Given the description of an element on the screen output the (x, y) to click on. 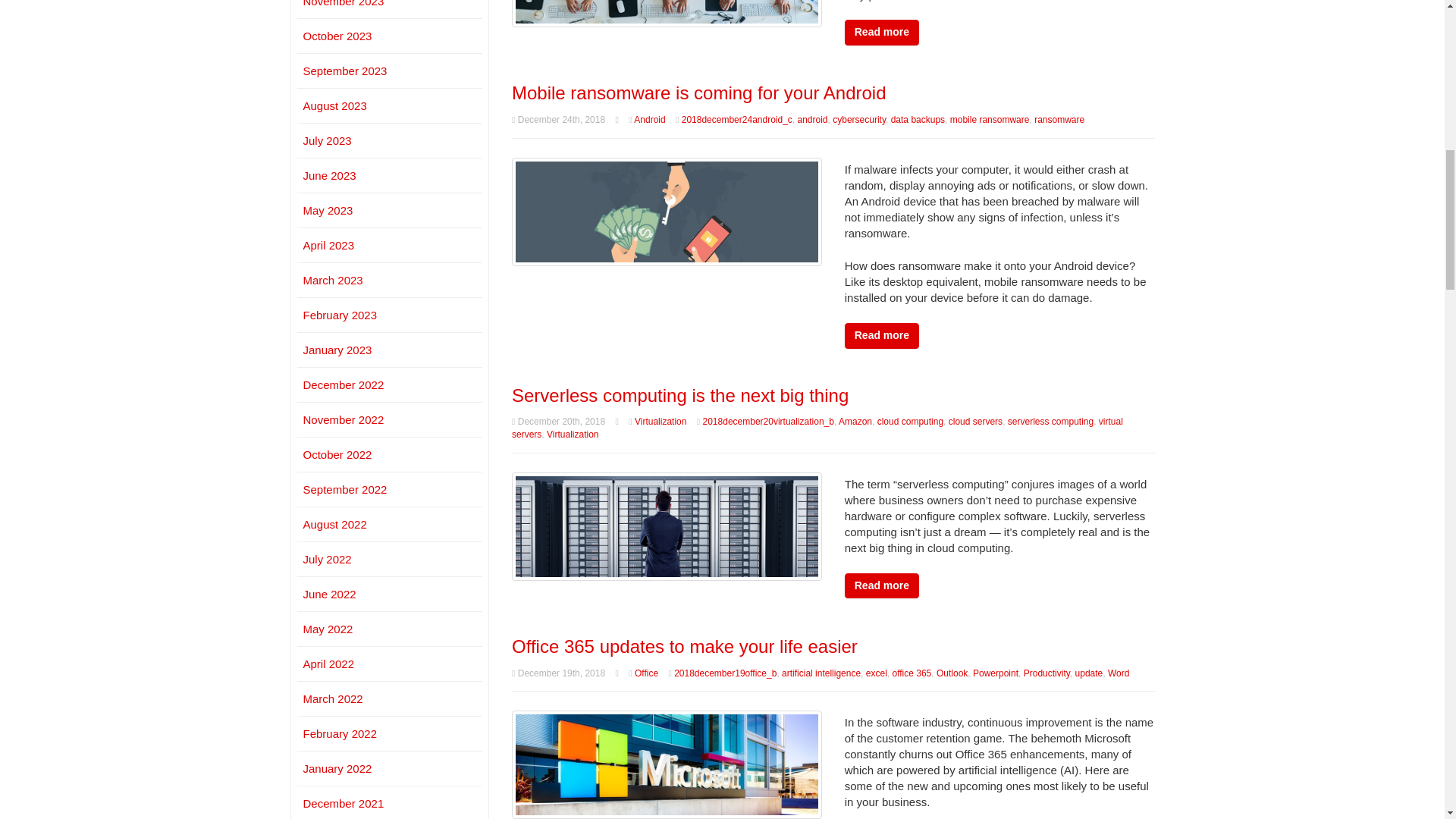
Serverless computing is the next big thing (680, 394)
Office 365 updates to make your life easier (667, 763)
Mobile ransomware is coming for your Android (699, 92)
Mobile ransomware is coming for your Android (667, 210)
Office 365 updates to make your life easier (684, 646)
Serverless computing is the next big thing (667, 524)
